Given the description of an element on the screen output the (x, y) to click on. 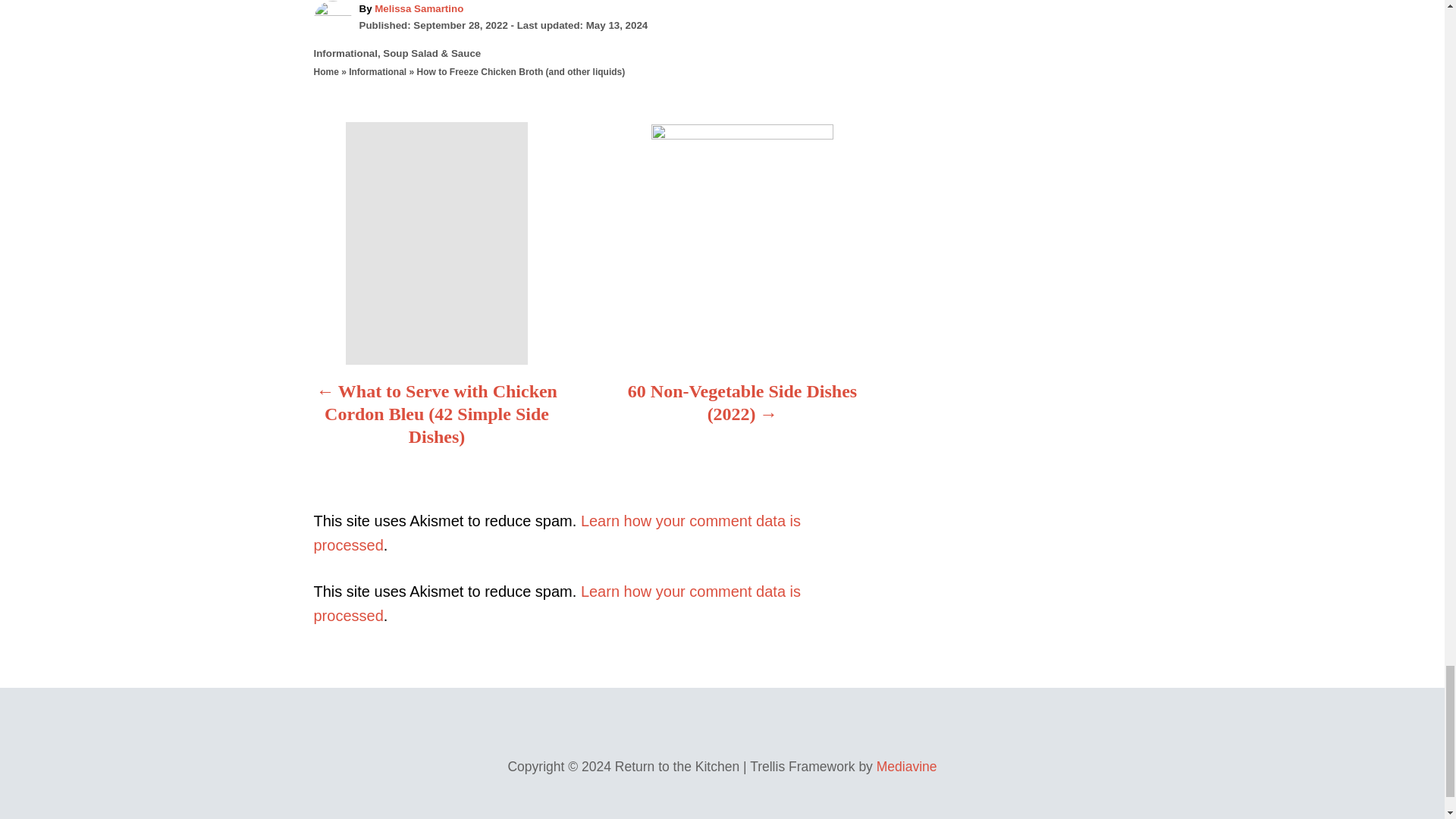
Melissa Samartino (418, 8)
Informational (345, 52)
